Given the description of an element on the screen output the (x, y) to click on. 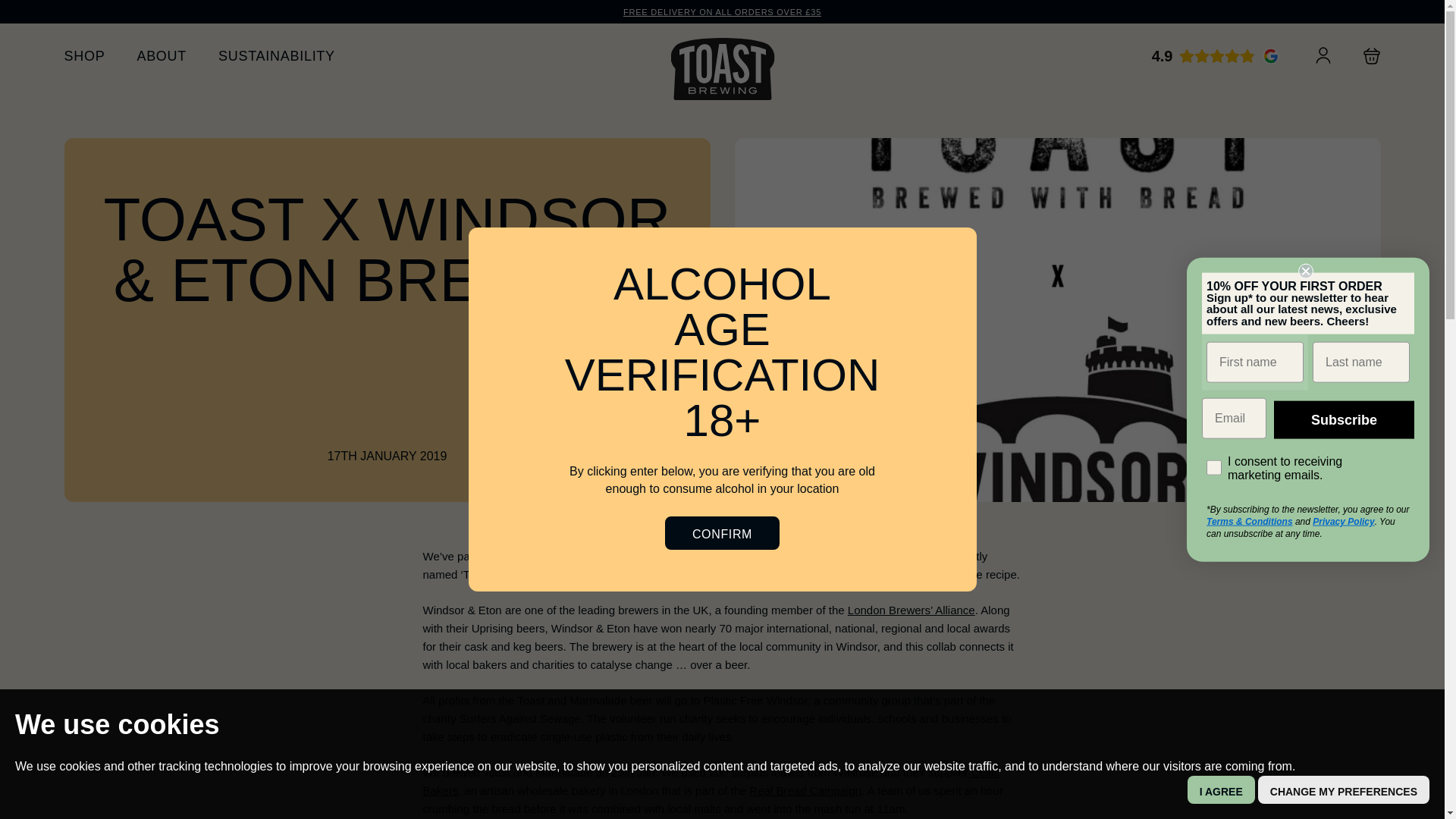
I AGREE (1221, 789)
 Celtic Bakers (711, 780)
CONFIRM (721, 532)
ABOUT (161, 55)
Mini basket (1370, 55)
SUSTAINABILITY (276, 55)
Real Bread Campaign (805, 789)
Submit (20, 8)
CHANGE MY PREFERENCES (1343, 789)
Member (1322, 55)
Close dialog 6 (1305, 271)
SHOP (84, 55)
